Given the description of an element on the screen output the (x, y) to click on. 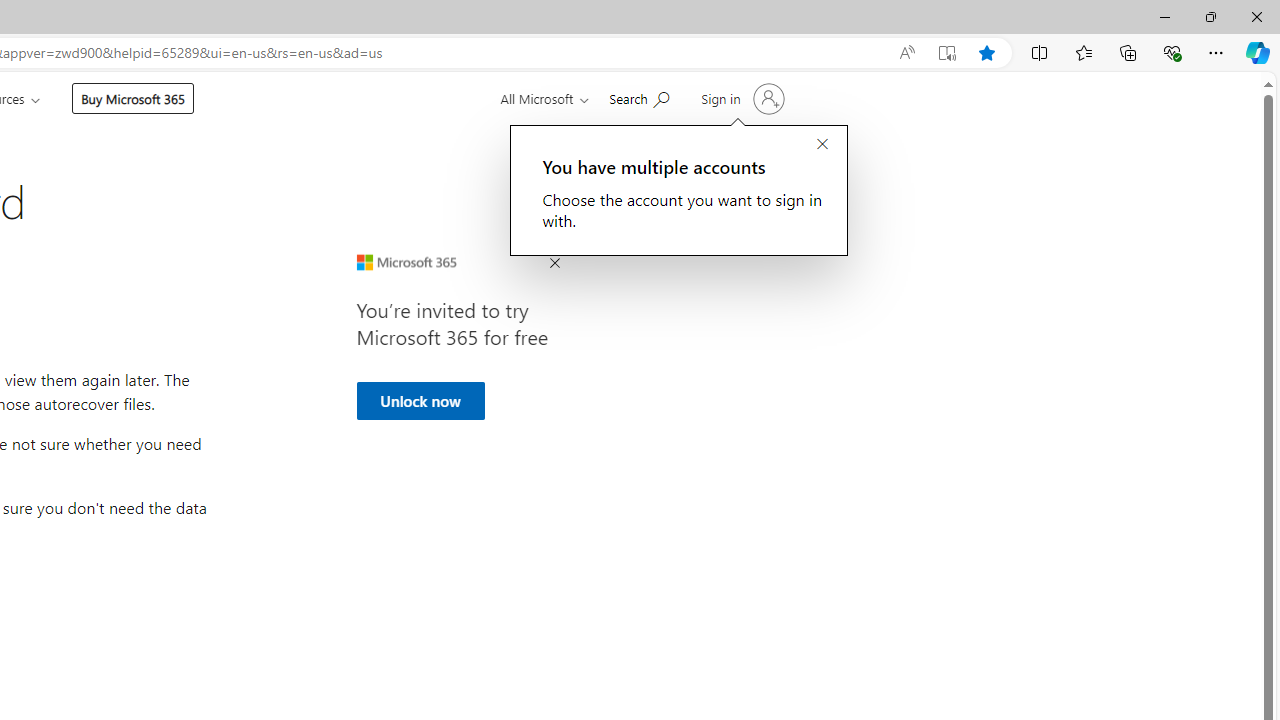
Read aloud this page (Ctrl+Shift+U) (906, 53)
Split screen (1039, 52)
Close Ad (554, 264)
Buy Microsoft 365 (132, 98)
Settings and more (Alt+F) (1215, 52)
Restore (1210, 16)
